Given the description of an element on the screen output the (x, y) to click on. 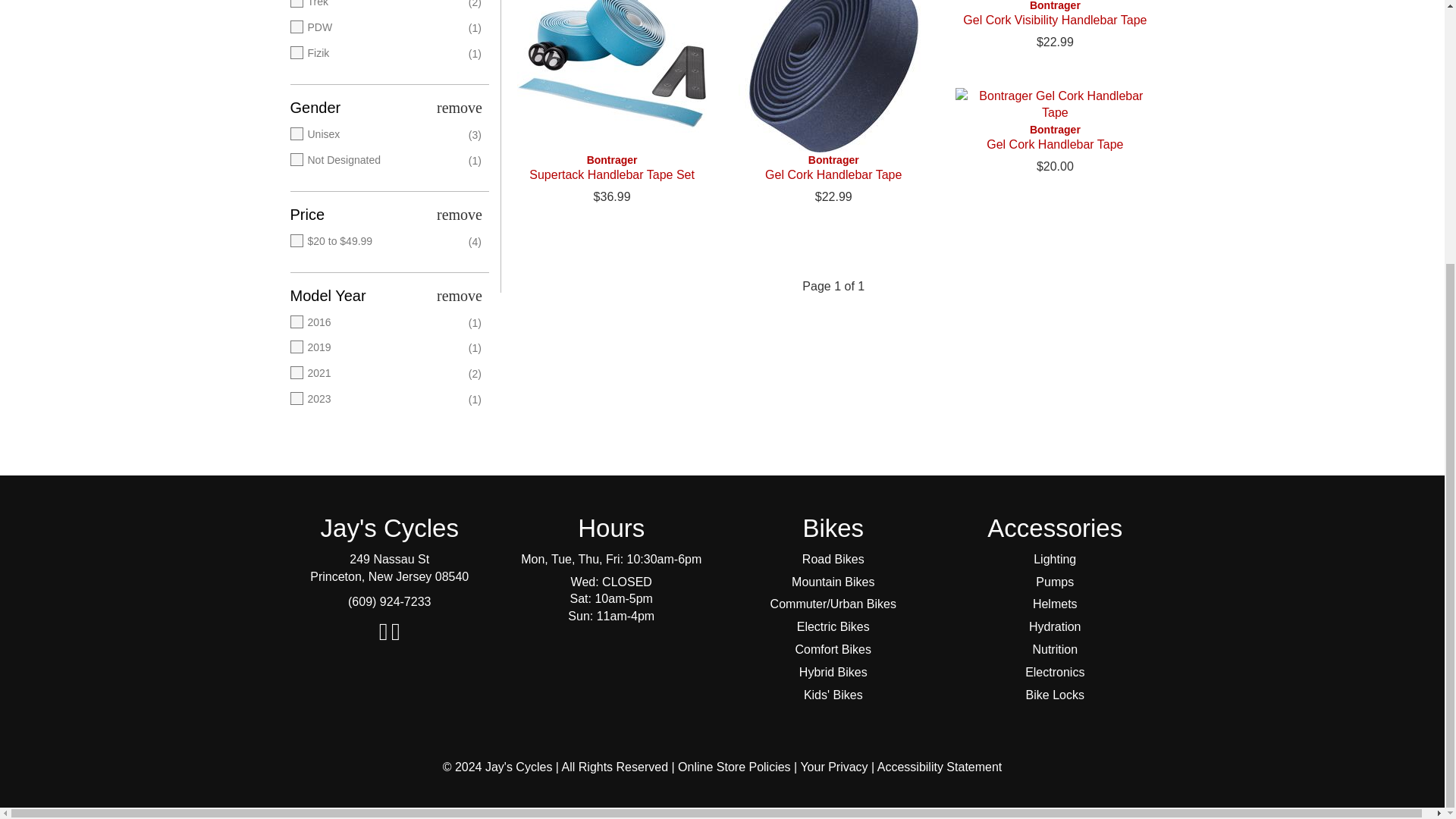
Bontrager Gel Cork Handlebar Tape (833, 167)
Bontrager Supertack Handlebar Tape Set (611, 167)
Bontrager Supertack Handlebar Tape Set (611, 76)
Bontrager Gel Cork Handlebar Tape (833, 76)
